Given the description of an element on the screen output the (x, y) to click on. 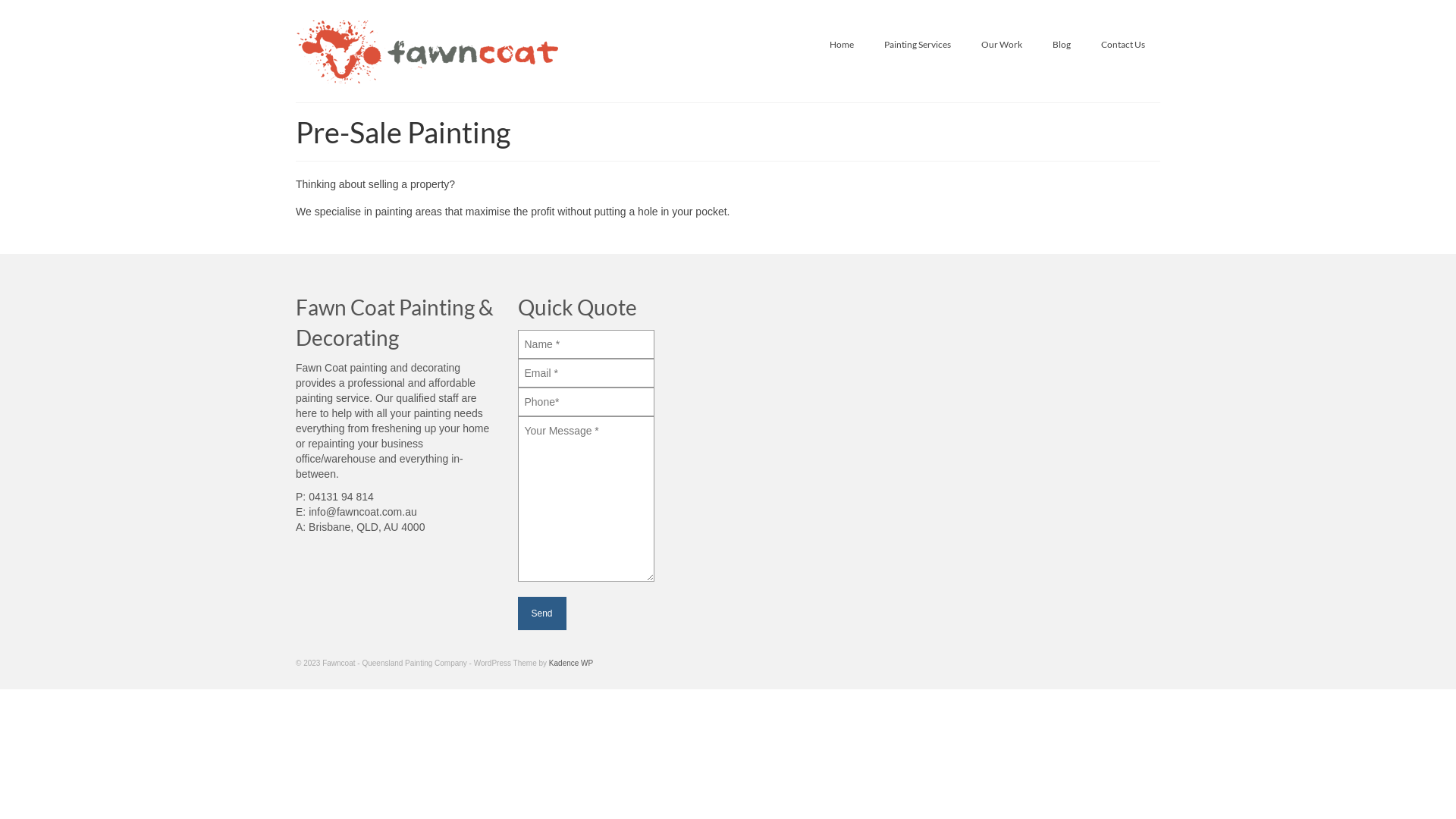
04131 94 814 Element type: text (340, 496)
Painting Services Element type: text (917, 44)
info@fawncoat.com.au Element type: text (362, 511)
Home Element type: text (841, 44)
Send Element type: text (541, 613)
Kadence WP Element type: text (571, 662)
Blog Element type: text (1061, 44)
Contact Us Element type: text (1122, 44)
Our Work Element type: text (1001, 44)
